Given the description of an element on the screen output the (x, y) to click on. 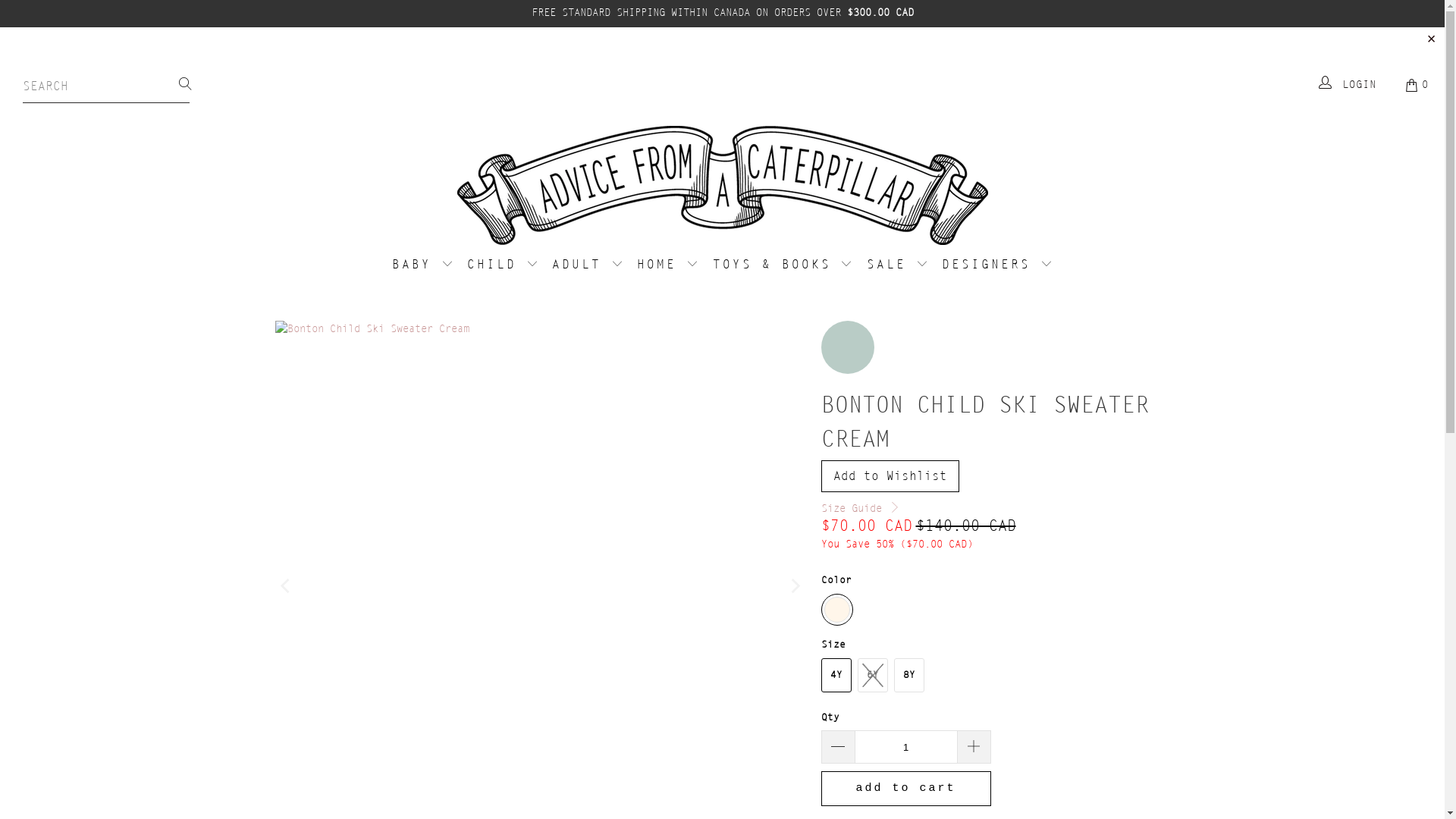
SALE Element type: text (897, 264)
Advice from a Caterpillar Element type: hover (721, 186)
TOYS & BOOKS Element type: text (782, 264)
ADULT Element type: text (587, 264)
DESIGNERS Element type: text (996, 264)
0 Element type: text (1417, 84)
Size Guide Element type: text (859, 508)
LOGIN Element type: text (1348, 84)
add to cart Element type: text (905, 788)
BABY Element type: text (422, 264)
CHILD Element type: text (502, 264)
to Wishlist Element type: text (889, 476)
HOME Element type: text (667, 264)
